Given the description of an element on the screen output the (x, y) to click on. 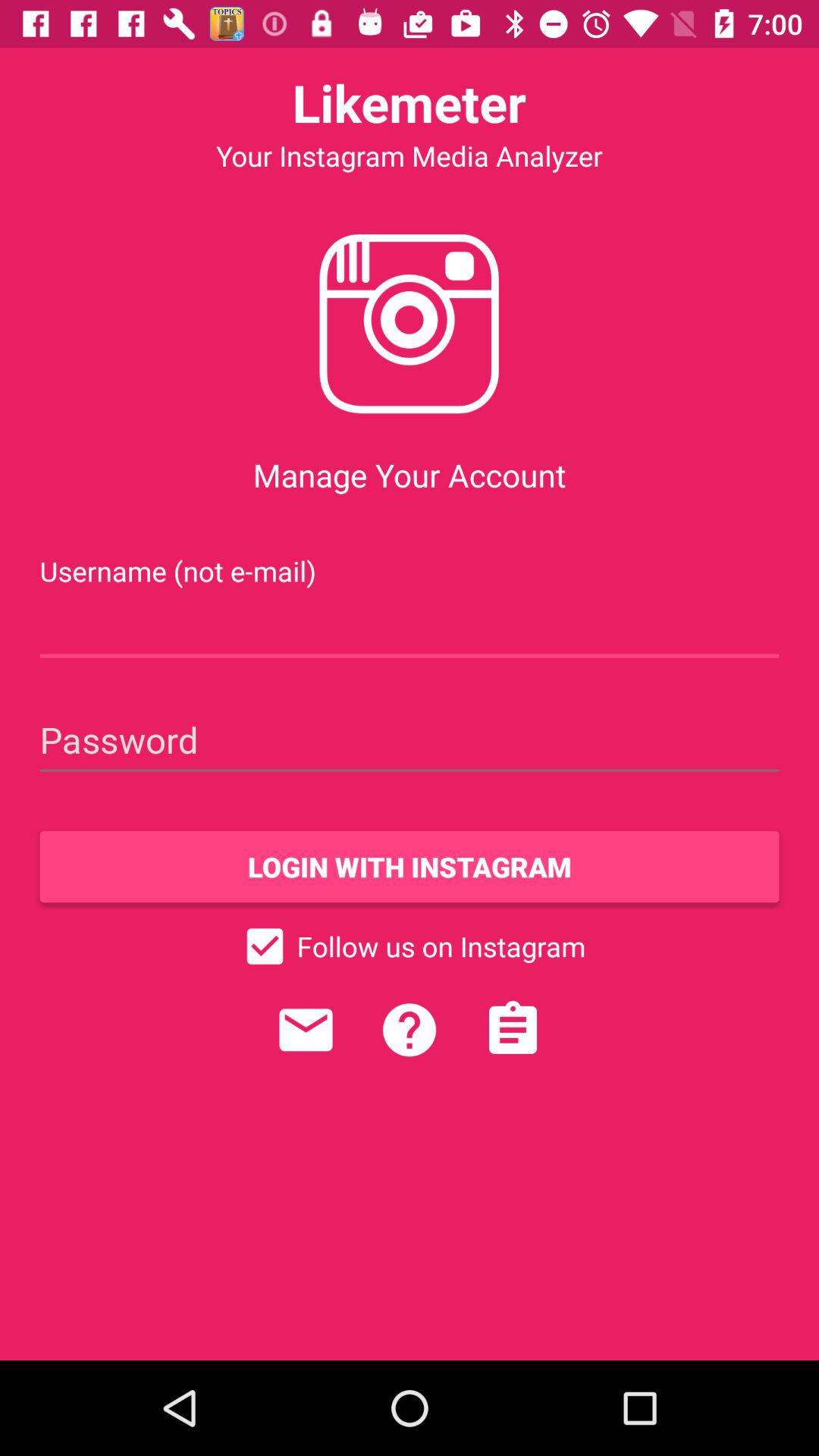
turn on item above the follow us on item (409, 866)
